Given the description of an element on the screen output the (x, y) to click on. 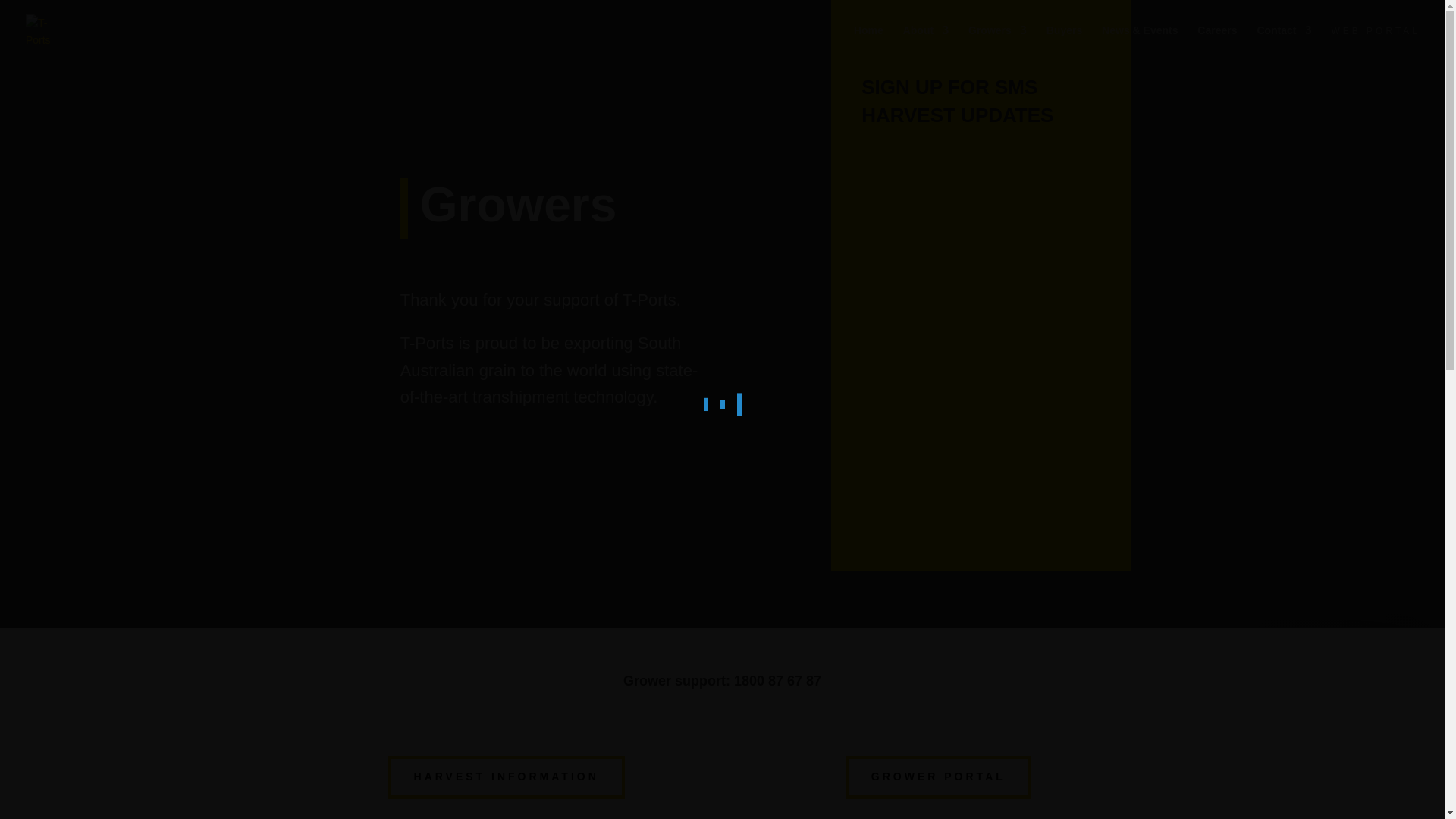
HARVEST INFORMATION (506, 776)
Contact (1283, 42)
Careers (1216, 42)
Growers (997, 42)
About (925, 42)
1800 87 67 87 (777, 680)
WEB PORTAL (1375, 43)
GROWER PORTAL (937, 776)
Buyers (1063, 42)
